Given the description of an element on the screen output the (x, y) to click on. 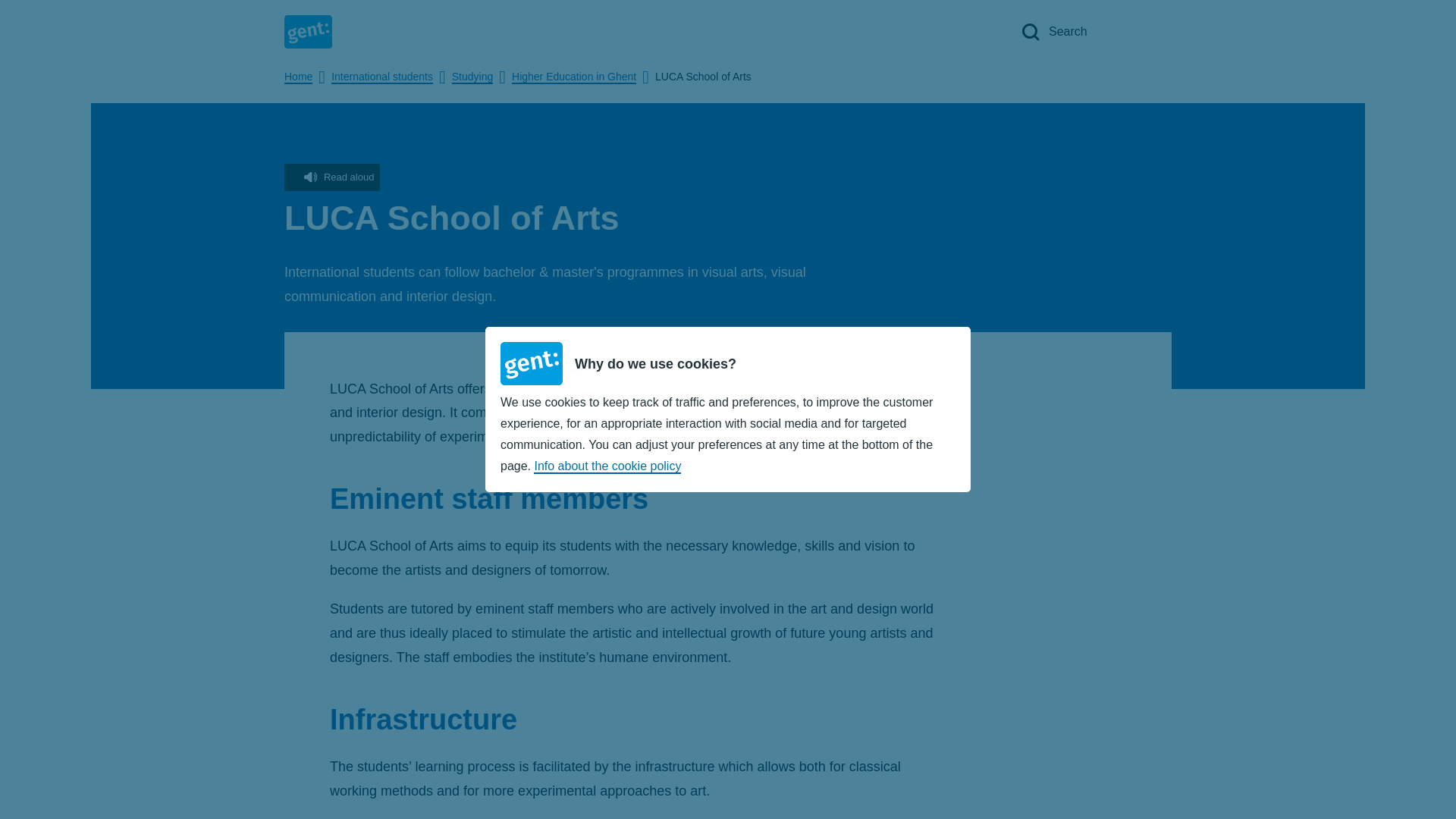
Read aloud (331, 176)
International students (381, 77)
Studying (472, 77)
Listen to this page using ReadSpeaker (331, 176)
Home (298, 77)
Higher Education in Ghent (574, 77)
